Given the description of an element on the screen output the (x, y) to click on. 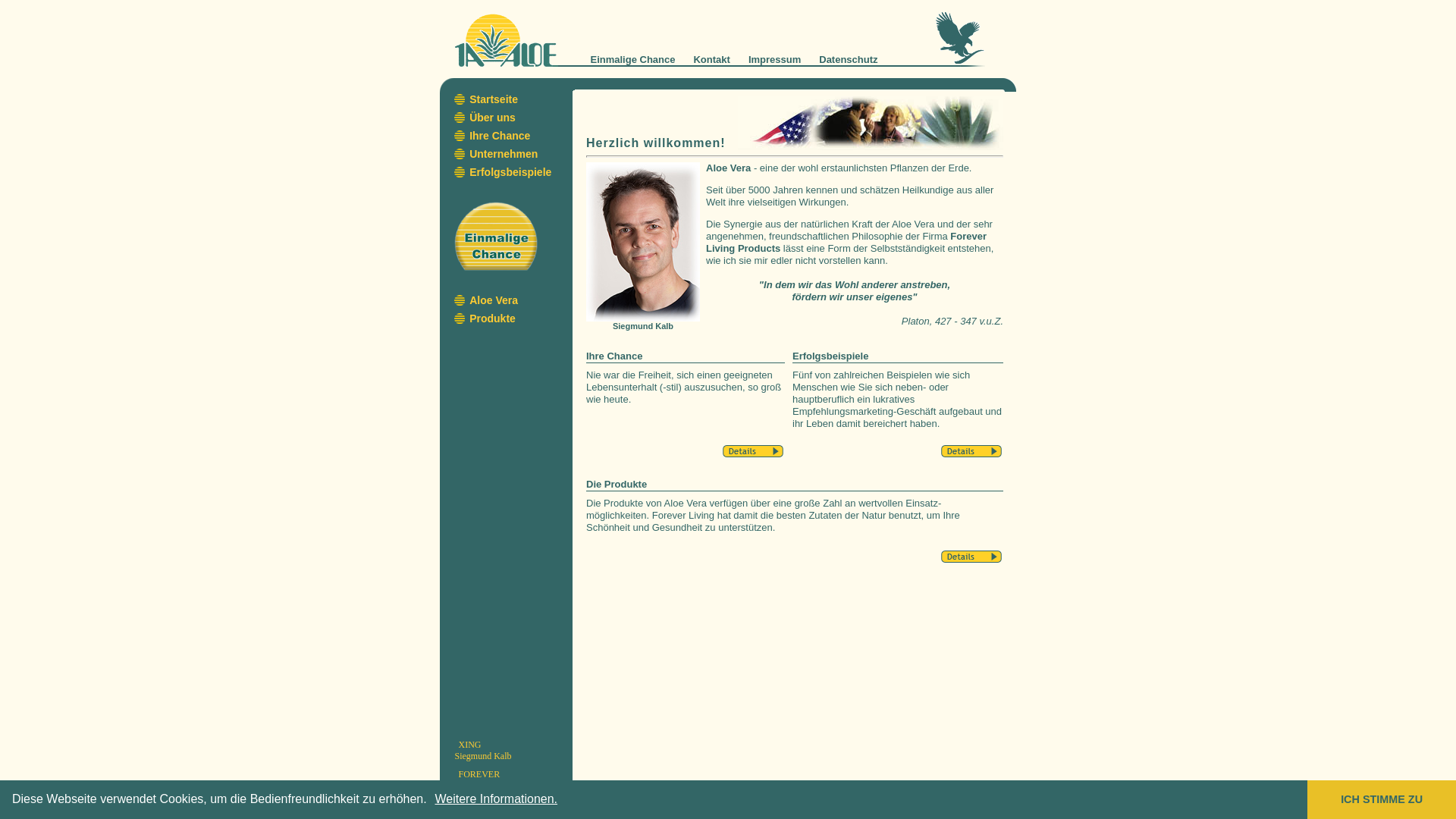
Startseite Element type: text (493, 99)
Impressum Element type: text (774, 59)
Weitere Informationen. Element type: text (496, 798)
Datenschutz Element type: text (848, 59)
Erfolgsbeispiele Element type: text (510, 172)
Aloe Vera Element type: text (493, 300)
Unternehmen Element type: text (503, 153)
Einmalige Chance Element type: text (631, 59)
Produkte Element type: text (492, 318)
Kontakt Element type: text (711, 59)
XING
Siegmund Kalb Element type: text (483, 750)
FOREVER
Team 1A-Aloe Element type: text (481, 779)
Ihre Chance Element type: text (499, 135)
